Given the description of an element on the screen output the (x, y) to click on. 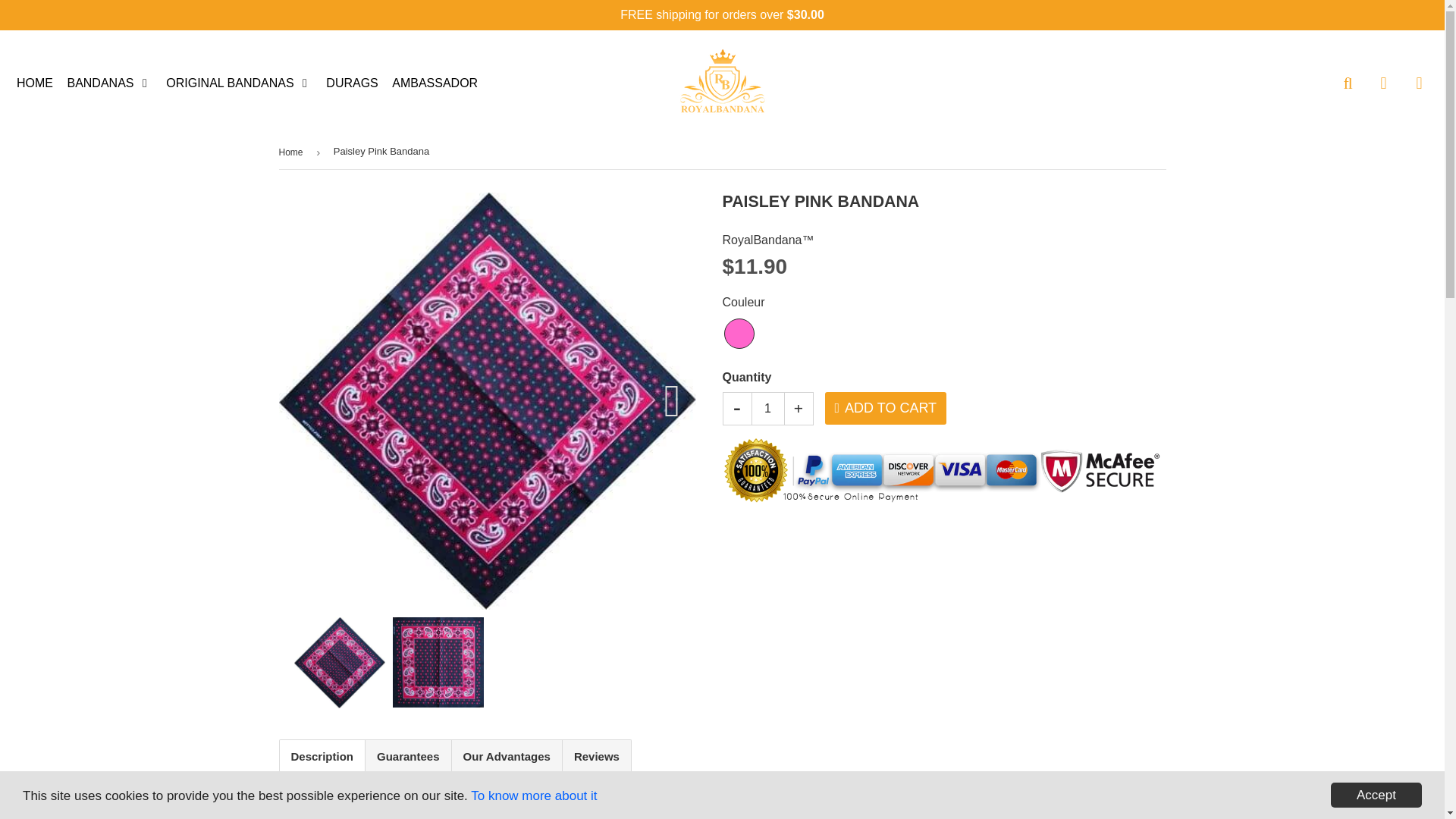
1 (767, 409)
Home (293, 150)
BANDANAS (109, 83)
DURAGS (351, 83)
ORIGINAL BANDANAS (238, 83)
HOME (34, 83)
Back to the frontpage (293, 150)
AMBASSADOR (435, 83)
